Given the description of an element on the screen output the (x, y) to click on. 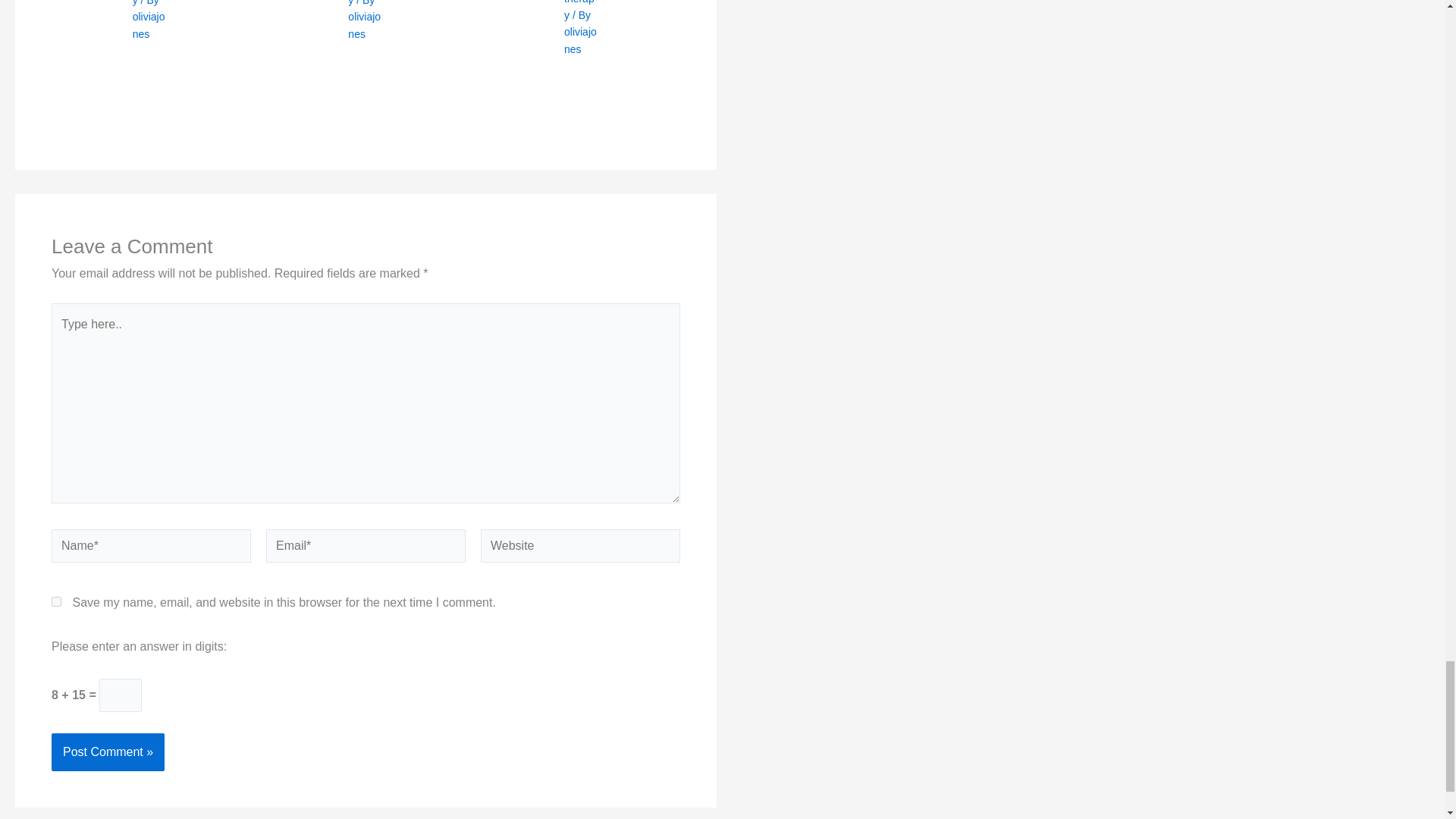
yes (55, 601)
